Given the description of an element on the screen output the (x, y) to click on. 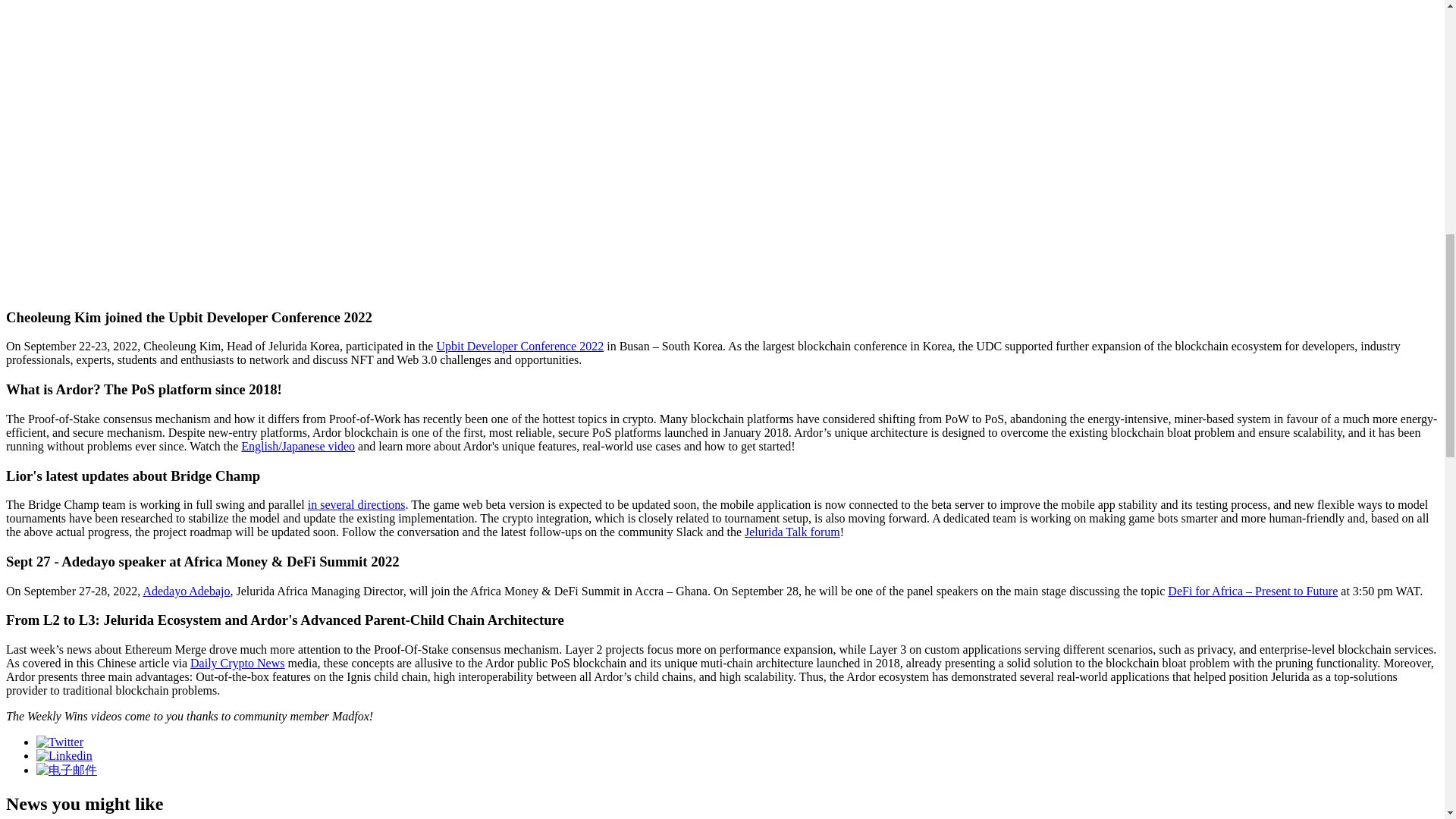
in several directions (356, 504)
Adedayo Adebajo (186, 590)
Daily Crypto News (236, 662)
Jelurida Talk forum (792, 531)
Upbit Developer Conference 2022 (519, 345)
